Given the description of an element on the screen output the (x, y) to click on. 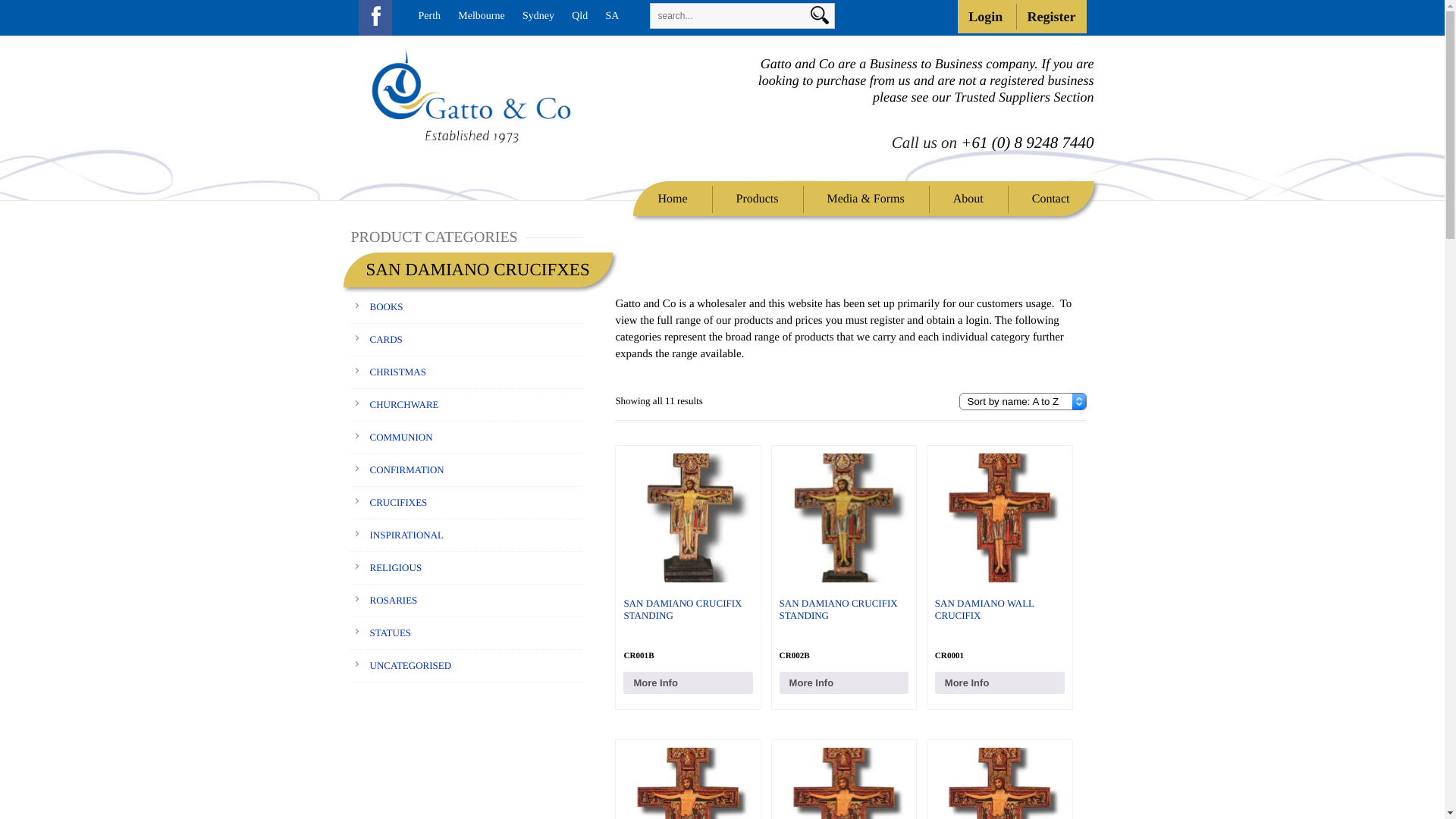
CONFIRMATION Element type: text (407, 469)
More Info Element type: text (688, 682)
About Element type: text (968, 198)
SAN DAMIANO WALL CRUCIFIX
CR0001  Element type: text (999, 559)
INSPIRATIONAL Element type: text (407, 534)
Media & Forms Element type: text (865, 198)
More Info Element type: text (844, 682)
CHRISTMAS Element type: text (398, 371)
+61 (0) 8 9248 7440 Element type: text (1026, 142)
RELIGIOUS Element type: text (396, 567)
COMMUNION Element type: text (401, 436)
SA Element type: text (611, 15)
Home Element type: text (671, 198)
Trusted Suppliers Section Element type: text (1023, 96)
BOOKS Element type: text (386, 306)
UNCATEGORISED Element type: text (410, 665)
CHURCHWARE Element type: text (404, 404)
Perth Element type: text (429, 15)
Contact Element type: text (1050, 198)
BABY Element type: text (383, 273)
Melbourne Element type: text (481, 15)
SAN DAMIANO CRUCIFIX STANDING
CR002B  Element type: text (844, 559)
Qld Element type: text (579, 15)
Sydney Element type: text (538, 15)
SAN DAMIANO CRUCIFIX STANDING
CR001B  Element type: text (688, 559)
ROSARIES Element type: text (393, 599)
CARDS Element type: text (386, 339)
Register Element type: text (1051, 16)
Products Element type: text (757, 198)
More Info Element type: text (999, 682)
Login Element type: text (985, 16)
CRUCIFIXES Element type: text (398, 502)
STATUES Element type: text (390, 632)
